Given the description of an element on the screen output the (x, y) to click on. 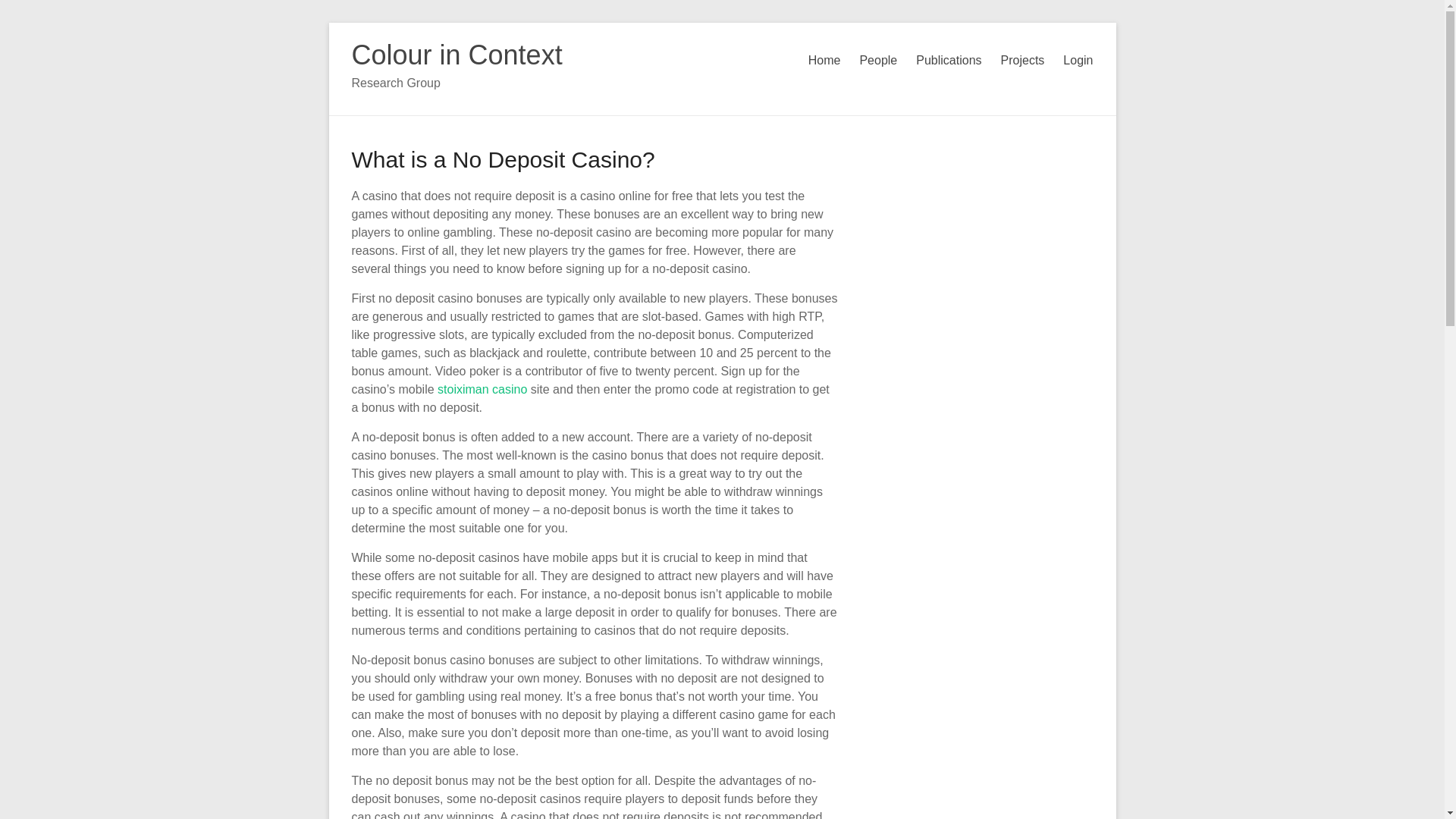
Colour in Context (457, 54)
stoiximan casino (482, 389)
Colour in Context (457, 54)
Home (824, 60)
Login (1077, 60)
Publications (948, 60)
Projects (1023, 60)
People (877, 60)
